Given the description of an element on the screen output the (x, y) to click on. 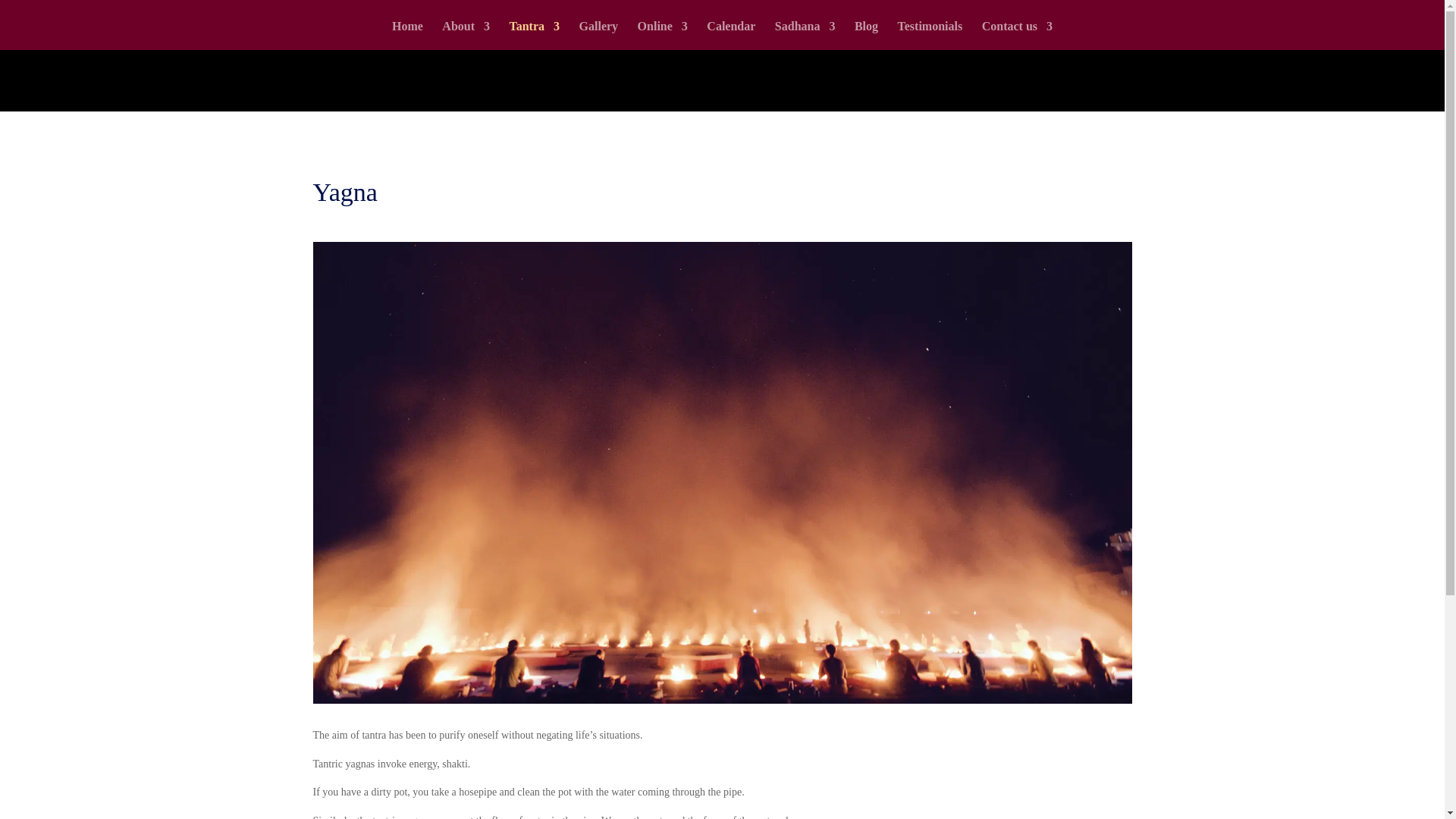
Contact us (1016, 35)
Home (407, 35)
Sadhana (804, 35)
Tantra (534, 35)
Testimonials (930, 35)
Gallery (598, 35)
Online (662, 35)
About (465, 35)
Calendar (730, 35)
